Given the description of an element on the screen output the (x, y) to click on. 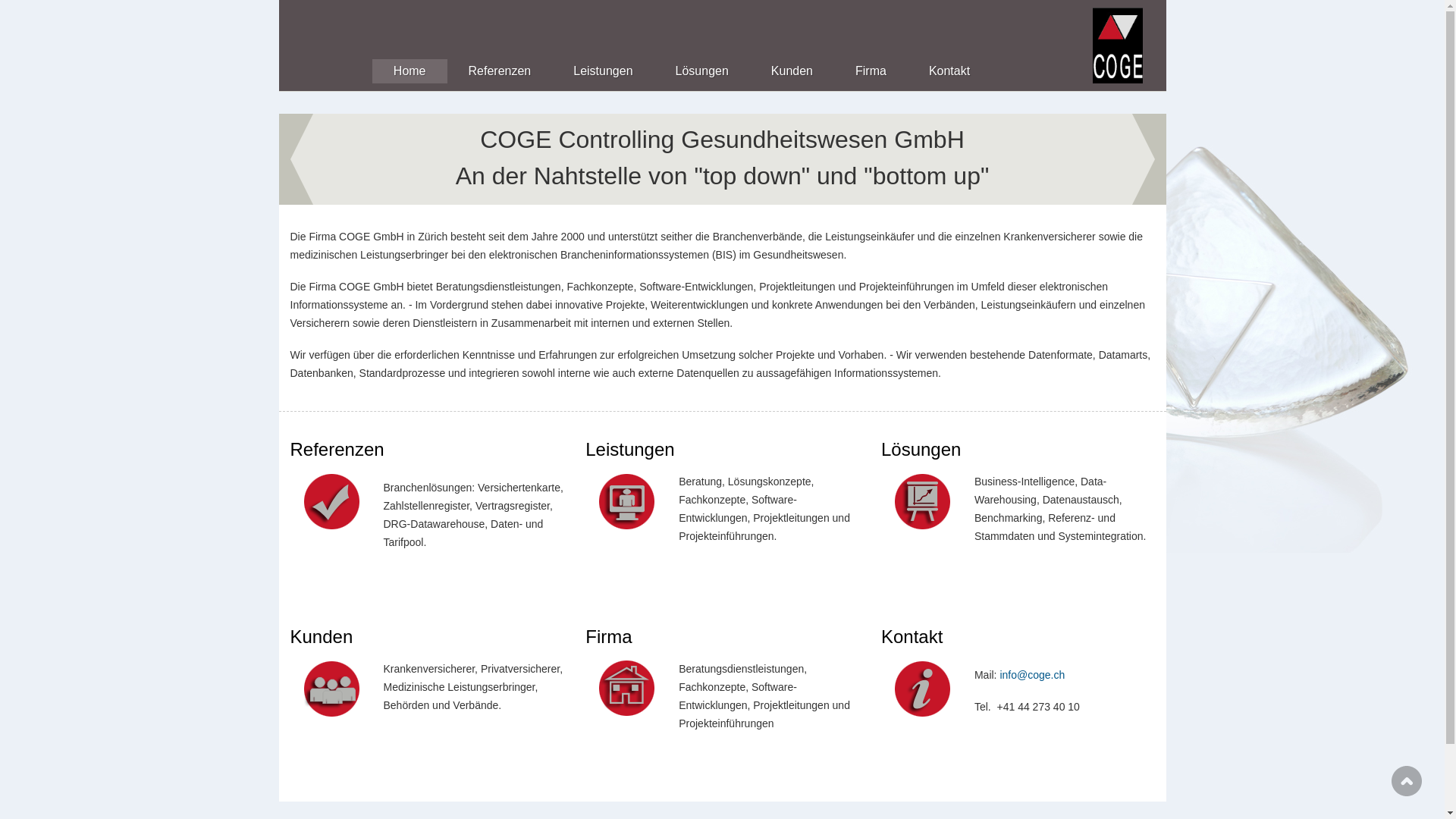
Kontakt Element type: text (949, 71)
info@coge.ch Element type: text (1031, 674)
Firma Element type: text (870, 71)
Home Element type: text (409, 71)
Scroll Element type: text (1406, 780)
Referenzen Element type: text (499, 71)
Kunden Element type: text (791, 71)
Leistungen Element type: text (602, 71)
